Given the description of an element on the screen output the (x, y) to click on. 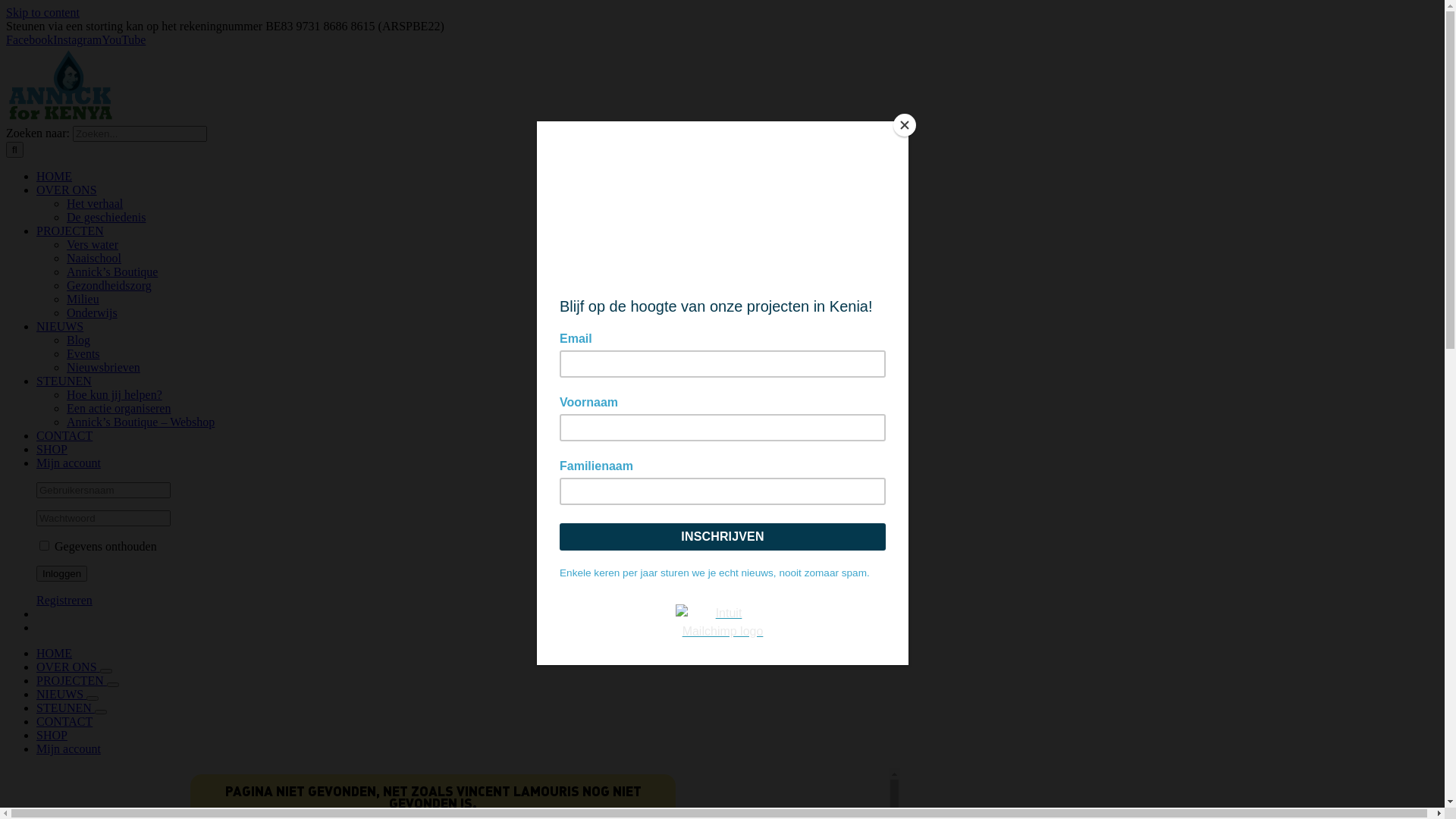
SHOP Element type: text (51, 448)
Het verhaal Element type: text (94, 203)
NIEUWS Element type: text (61, 693)
PROJECTEN Element type: text (69, 230)
Hoe kun jij helpen? Element type: text (114, 394)
STEUNEN Element type: text (63, 380)
CONTACT Element type: text (64, 435)
Een actie organiseren Element type: text (118, 407)
Facebook Element type: text (29, 39)
Nieuwsbrieven Element type: text (103, 366)
Mijn account Element type: text (68, 462)
Gezondheidszorg Element type: text (108, 285)
OVER ONS Element type: text (68, 666)
HOME Element type: text (54, 652)
PROJECTEN Element type: text (71, 680)
OVER ONS Element type: text (66, 189)
De geschiedenis Element type: text (105, 216)
Instagram Element type: text (77, 39)
Milieu Element type: text (82, 298)
Onderwijs Element type: text (91, 312)
Vers water Element type: text (92, 244)
Skip to content Element type: text (42, 12)
Registreren Element type: text (64, 599)
Mijn account Element type: text (68, 748)
SHOP Element type: text (51, 734)
HOME Element type: text (54, 175)
STEUNEN Element type: text (65, 707)
CONTACT Element type: text (64, 721)
Events Element type: text (83, 353)
Naaischool Element type: text (93, 257)
NIEUWS Element type: text (59, 326)
Inloggen Element type: text (61, 573)
YouTube Element type: text (123, 39)
Blog Element type: text (78, 339)
